Given the description of an element on the screen output the (x, y) to click on. 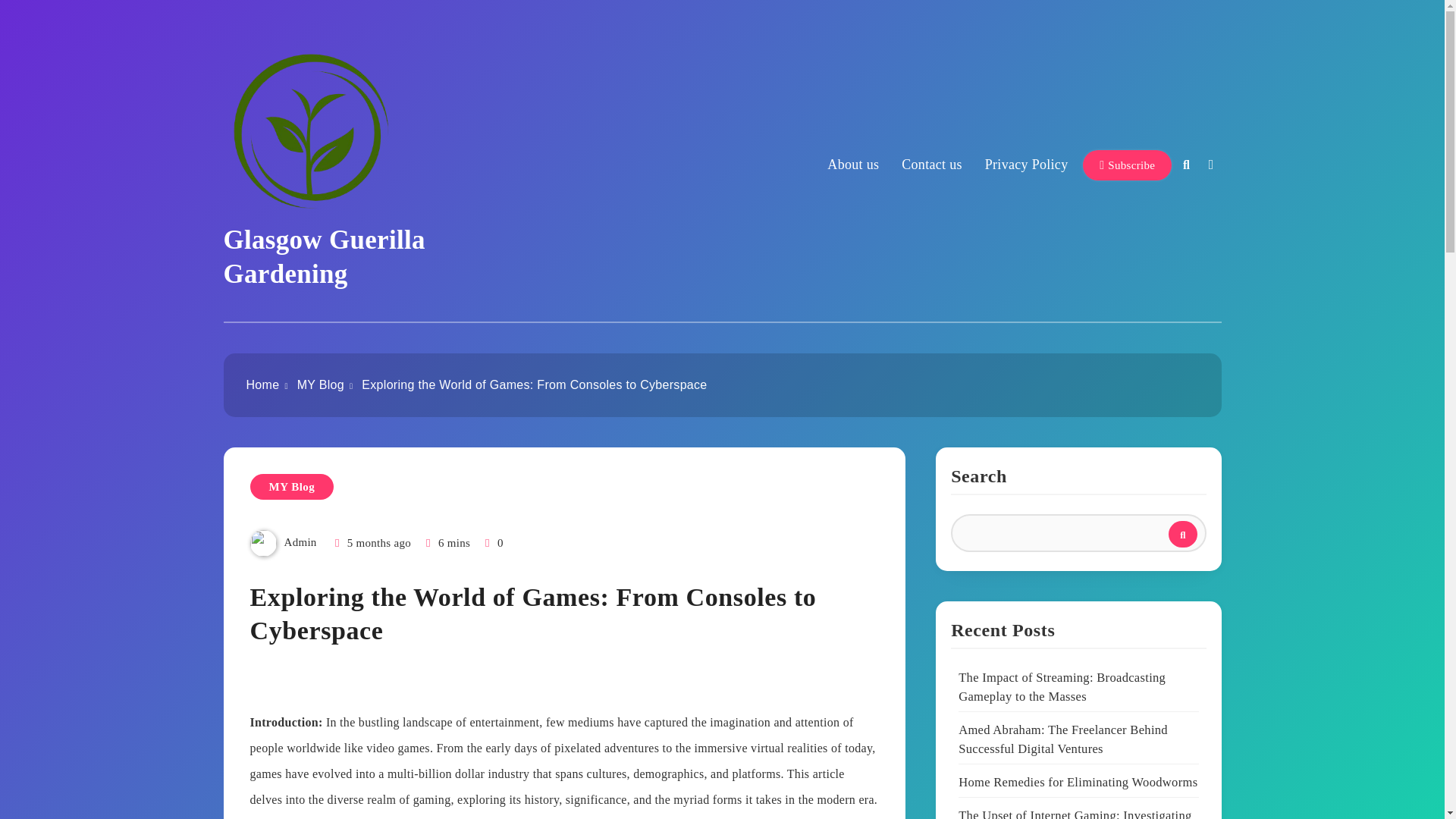
Home Remedies for Eliminating Woodworms (1077, 782)
0 (492, 542)
MY Blog (320, 384)
Contact us (931, 164)
Admin (299, 541)
The Impact of Streaming: Broadcasting Gameplay to the Masses (1062, 687)
Search (1182, 533)
About us (853, 164)
5 months ago (378, 542)
